Given the description of an element on the screen output the (x, y) to click on. 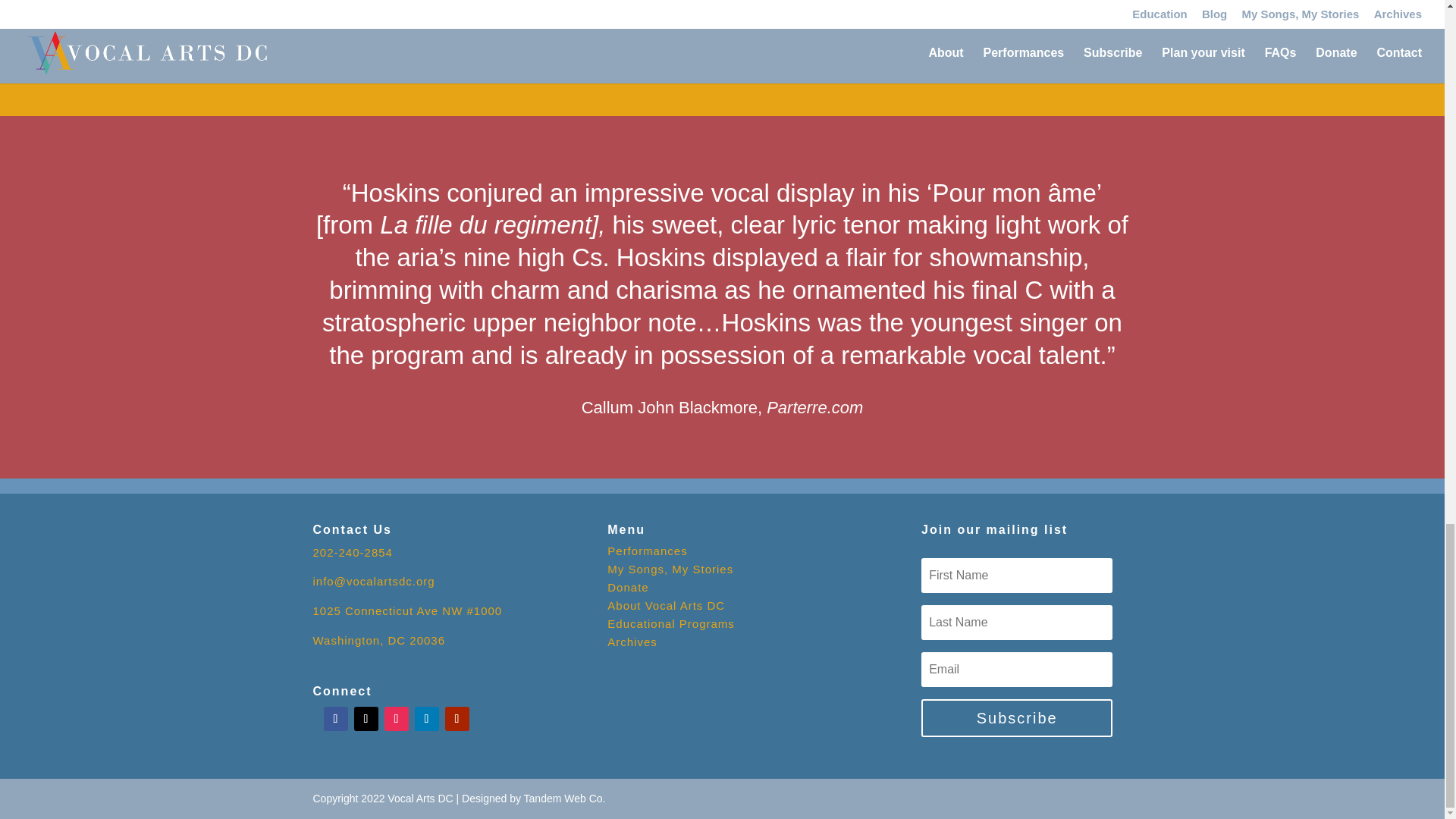
202-240-2854 (352, 552)
Follow on Facebook (335, 718)
Follow on Twitter (365, 718)
Educational Programs (671, 623)
Follow on Instagram (395, 718)
Subscribe (1016, 718)
Donate (627, 586)
Performances (647, 550)
Follow on Youtube (456, 718)
Archives (632, 641)
Follow on LinkedIn (425, 718)
My Songs, My Stories (670, 568)
About Vocal Arts DC (666, 604)
